Given the description of an element on the screen output the (x, y) to click on. 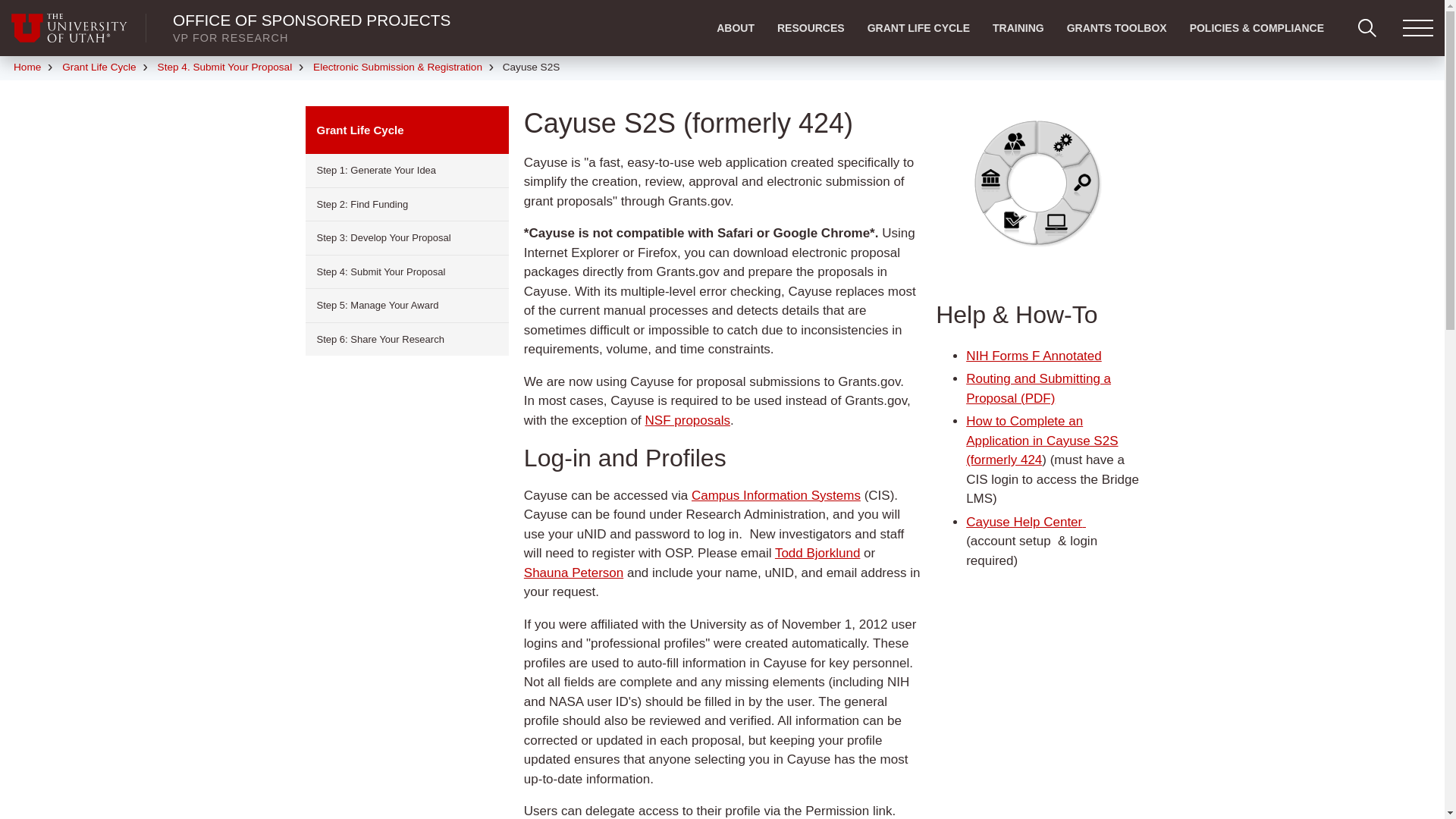
TRAINING (1018, 28)
ABOUT (734, 28)
VP FOR RESEARCH (230, 37)
opens new window (775, 495)
GRANTS TOOLBOX (1116, 28)
RESOURCES (810, 28)
OFFICE OF SPONSORED PROJECTS (311, 19)
GRANT LIFE CYCLE (918, 28)
